Given the description of an element on the screen output the (x, y) to click on. 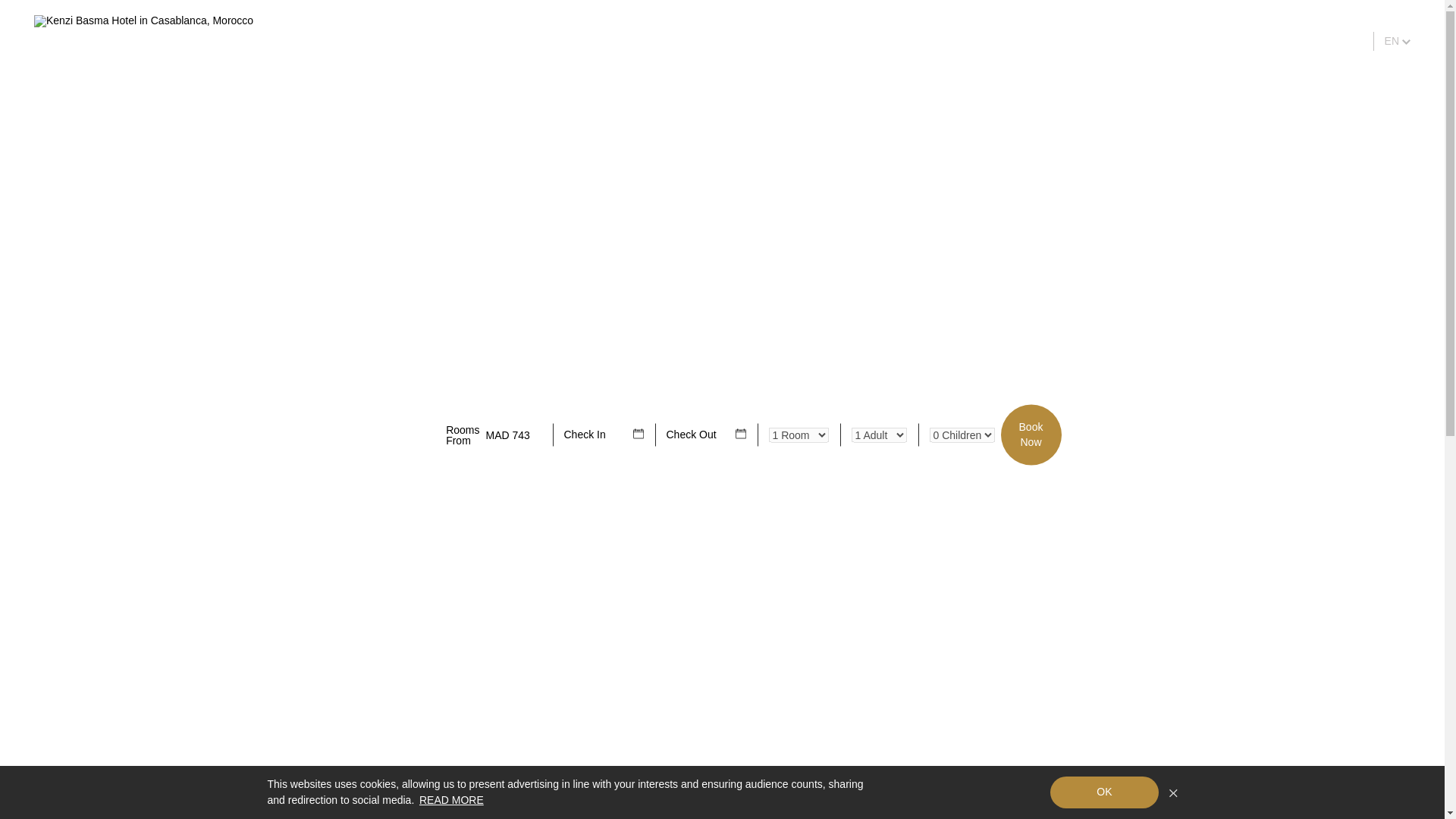
OK (1031, 435)
MAD 743 (1103, 792)
GO (506, 434)
SCROLL (722, 501)
FACILITIES (722, 765)
ACCOMMODATION (1331, 40)
EN (831, 40)
READ MORE (1397, 40)
SCROLL (450, 799)
DINING (722, 765)
SPECIAL OFFERS (1042, 40)
GALLERY (952, 40)
